Given the description of an element on the screen output the (x, y) to click on. 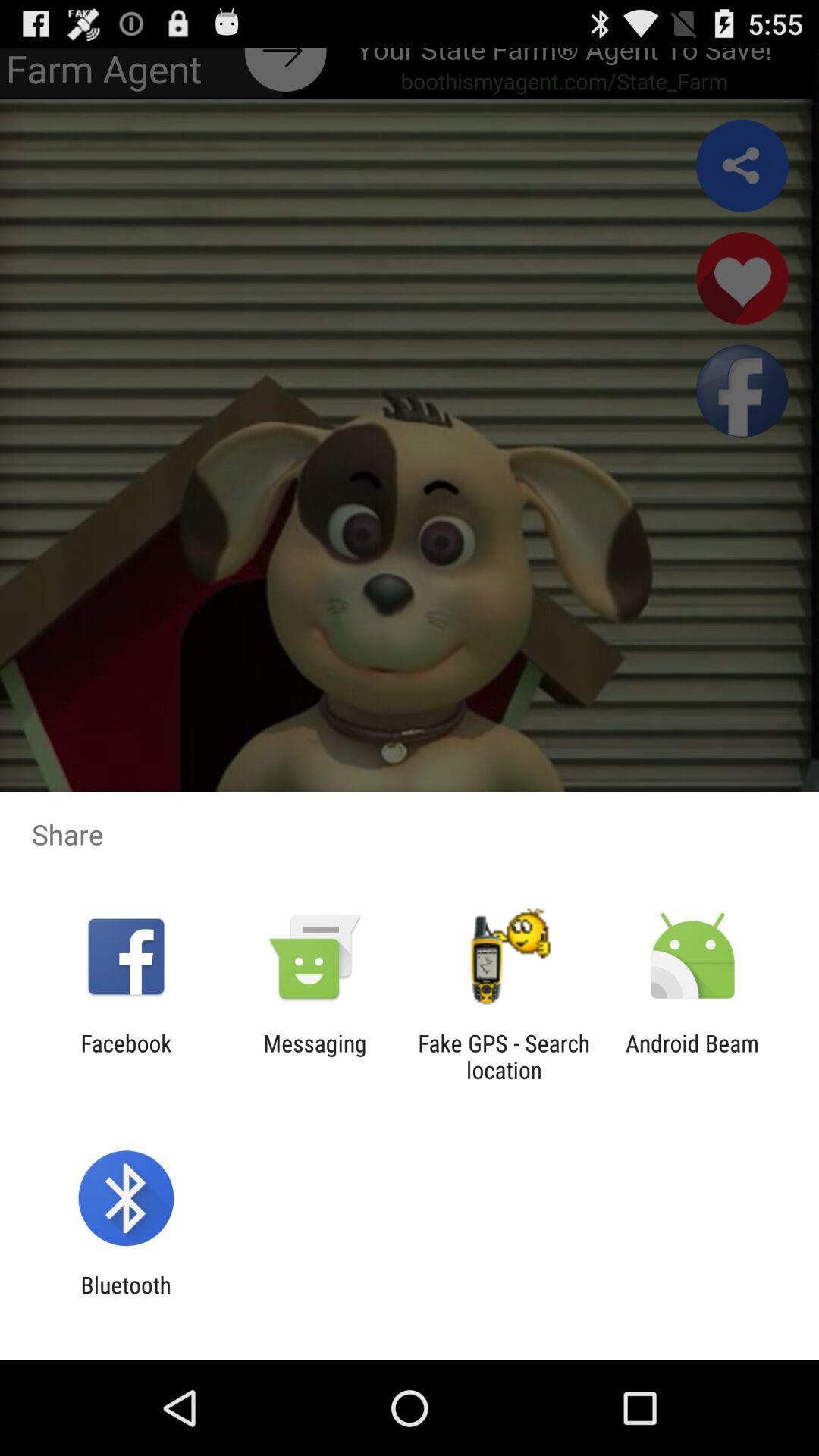
turn on the app next to the facebook item (314, 1056)
